Given the description of an element on the screen output the (x, y) to click on. 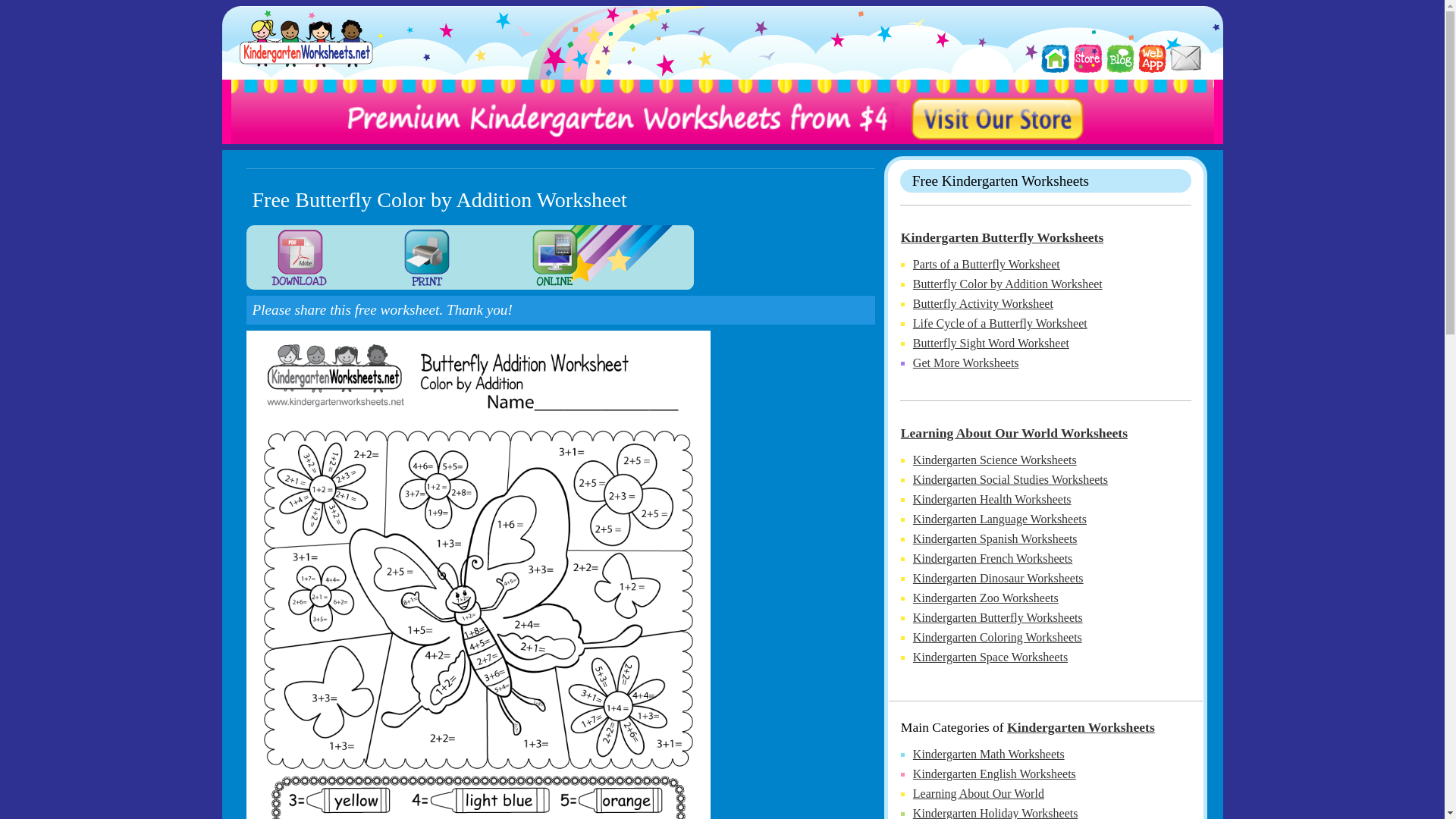
Kindergarten French Worksheets (992, 558)
Kindergarten Worksheets (1080, 726)
Get More Worksheets (965, 362)
Kindergarten Language Worksheets (999, 518)
Parts of a Butterfly Worksheet (985, 264)
Kindergarten Space Worksheets (989, 656)
Butterfly Activity Worksheet (982, 303)
Kindergarten Social Studies Worksheets (1010, 479)
Learning About Our World Worksheets (1013, 432)
Life Cycle of a Butterfly Worksheet (999, 323)
Kindergarten Health Worksheets (991, 499)
Kindergarten Holiday Worksheets (995, 812)
Kindergarten Zoo Worksheets (985, 597)
Kindergarten Butterfly Worksheets (1002, 237)
Learning About Our World (977, 793)
